Given the description of an element on the screen output the (x, y) to click on. 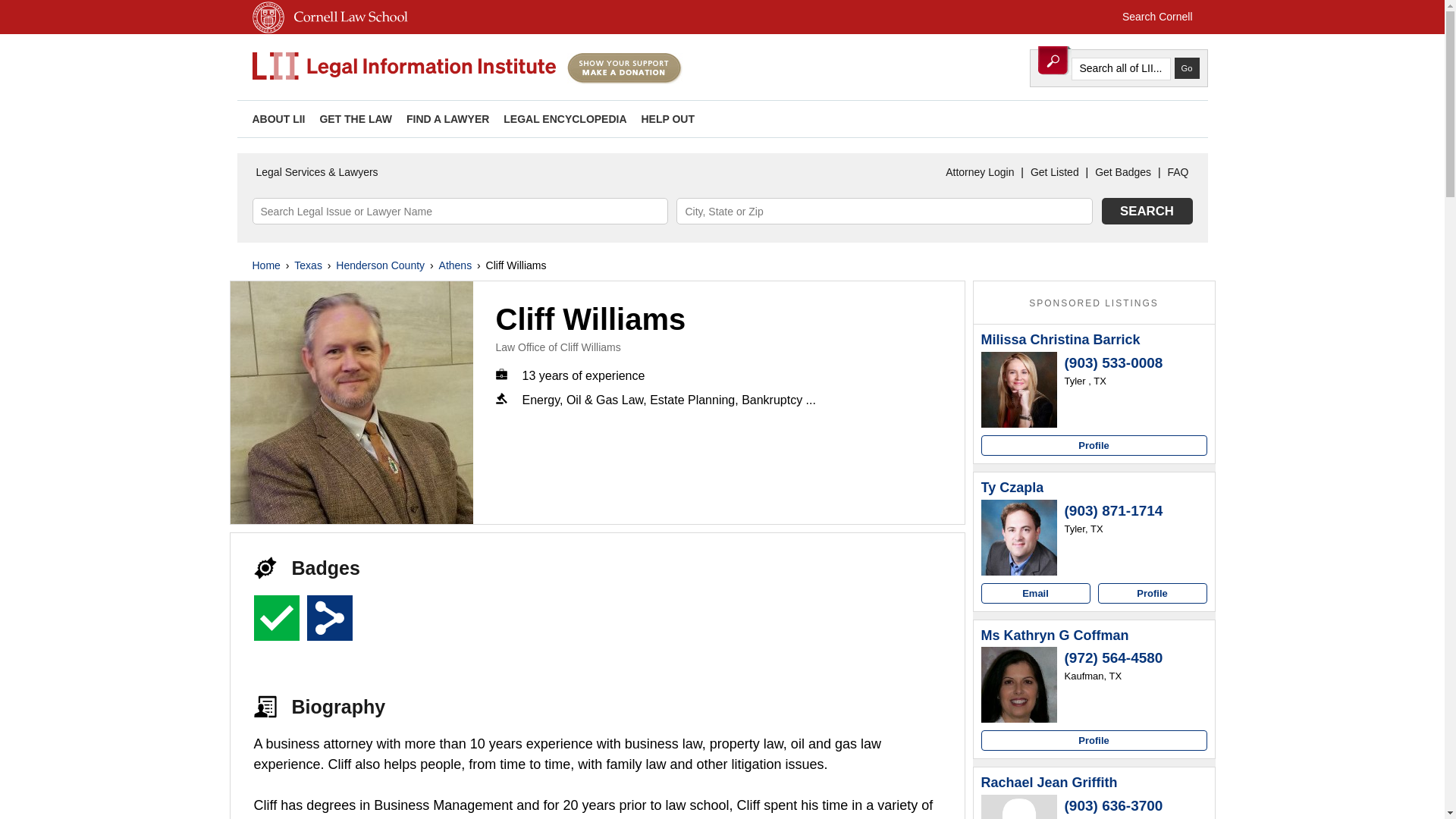
SPONSORED LISTINGS (1093, 303)
Cornell - LII Attorney Directory (402, 67)
Cliff Williams (351, 402)
facebook like (1173, 118)
twitter follow (1125, 118)
Profile (1094, 444)
HELP OUT (667, 119)
Cornell Law School (346, 29)
Ty Czapla (1019, 537)
Milissa Christina Barrick (1060, 340)
Search Legal Issue or Lawyer Name (459, 211)
Athens (455, 264)
Ms Kathryn G Coffman (1055, 636)
Search all of LII... (1120, 68)
FIND A LAWYER (447, 119)
